Given the description of an element on the screen output the (x, y) to click on. 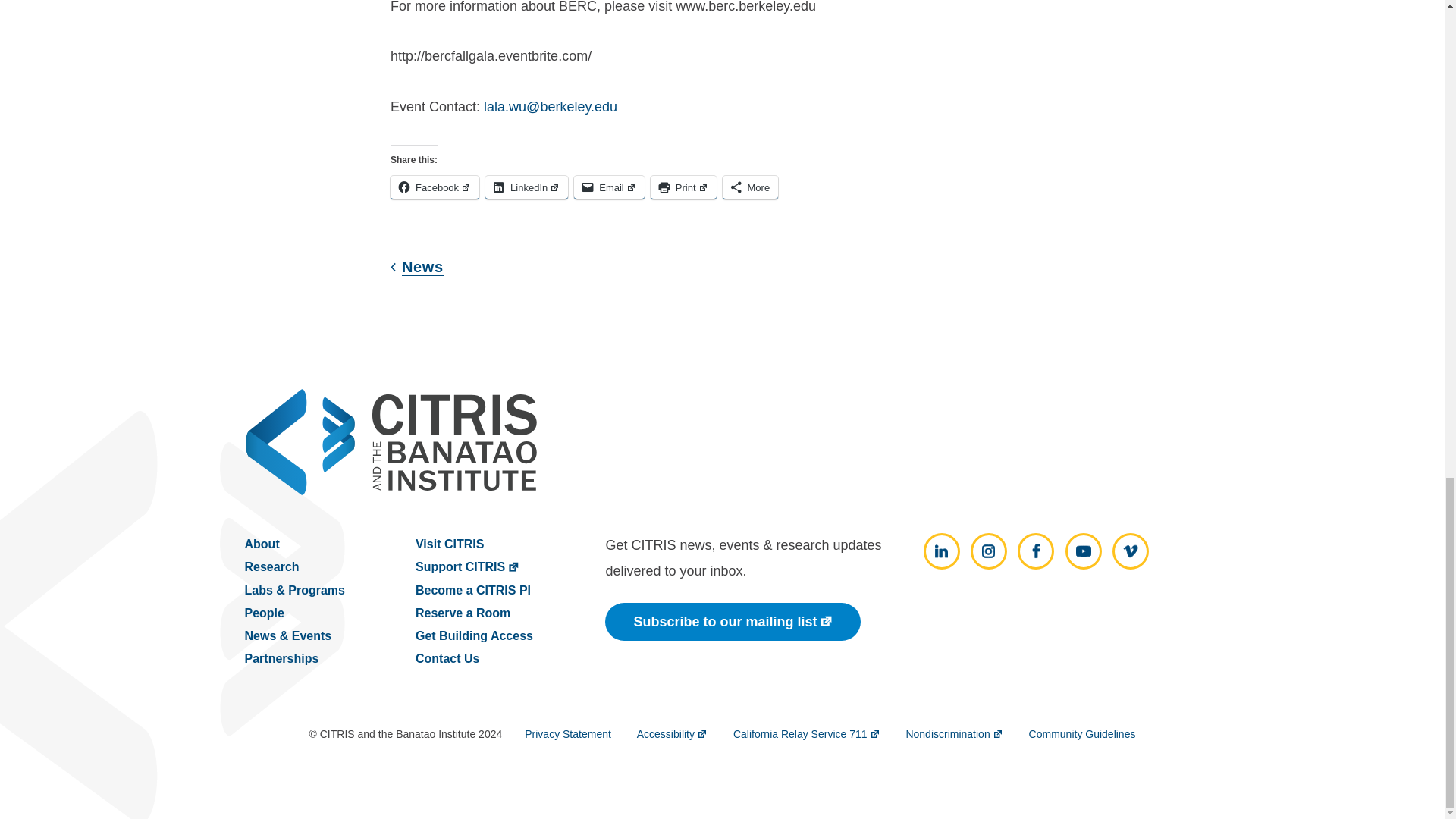
Click to print (683, 187)
Click to share on LinkedIn (525, 187)
Click to email a link to a friend (609, 187)
Click to share on Facebook (434, 187)
